Given the description of an element on the screen output the (x, y) to click on. 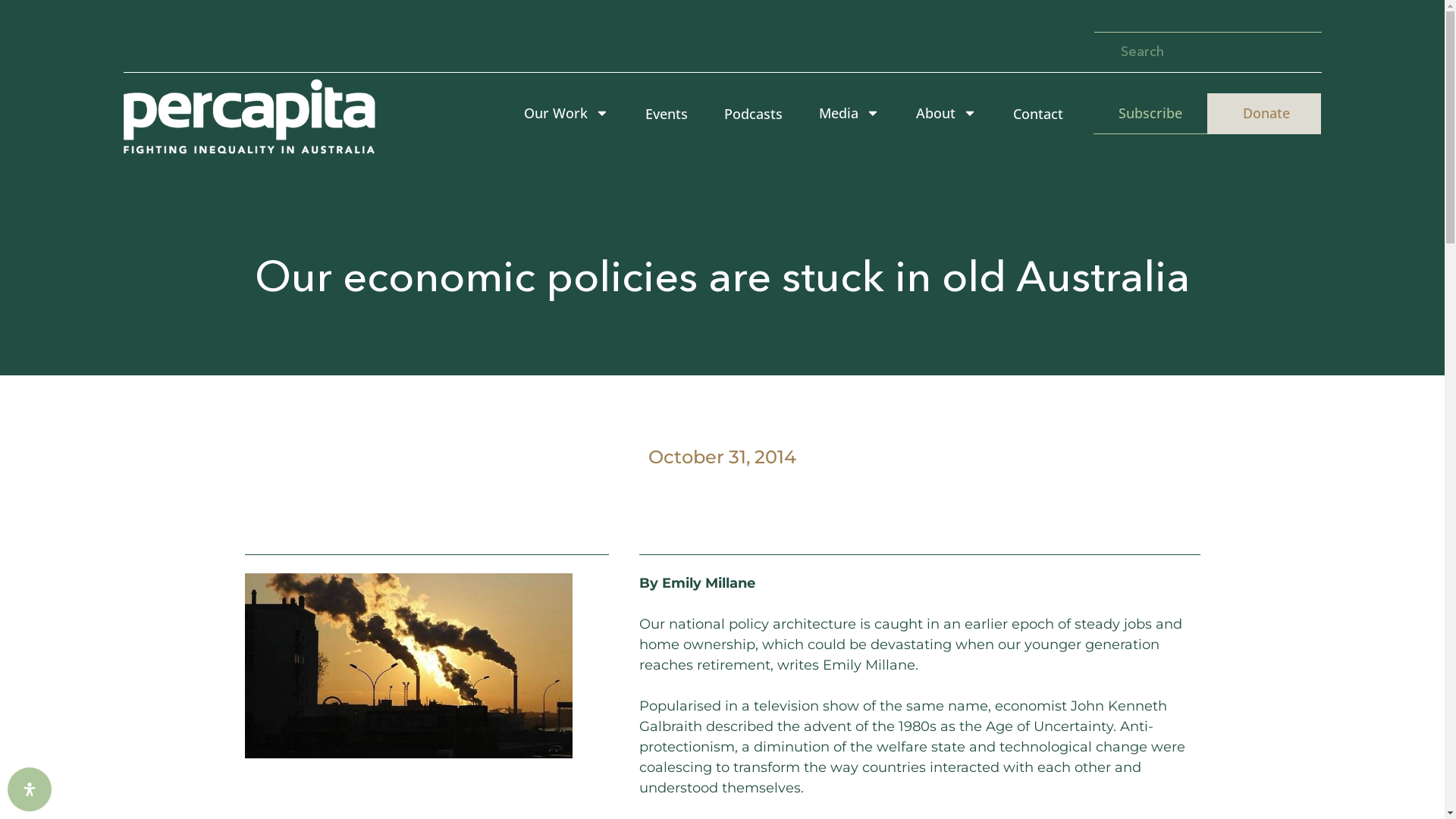
About Element type: text (945, 113)
Media Element type: text (848, 113)
Podcasts Element type: text (753, 113)
Accessibility Element type: hover (29, 789)
Our Work Element type: text (566, 113)
 Donate Element type: text (1264, 113)
Events Element type: text (666, 113)
Subscribe Element type: text (1150, 113)
Contact Element type: text (1037, 113)
